Given the description of an element on the screen output the (x, y) to click on. 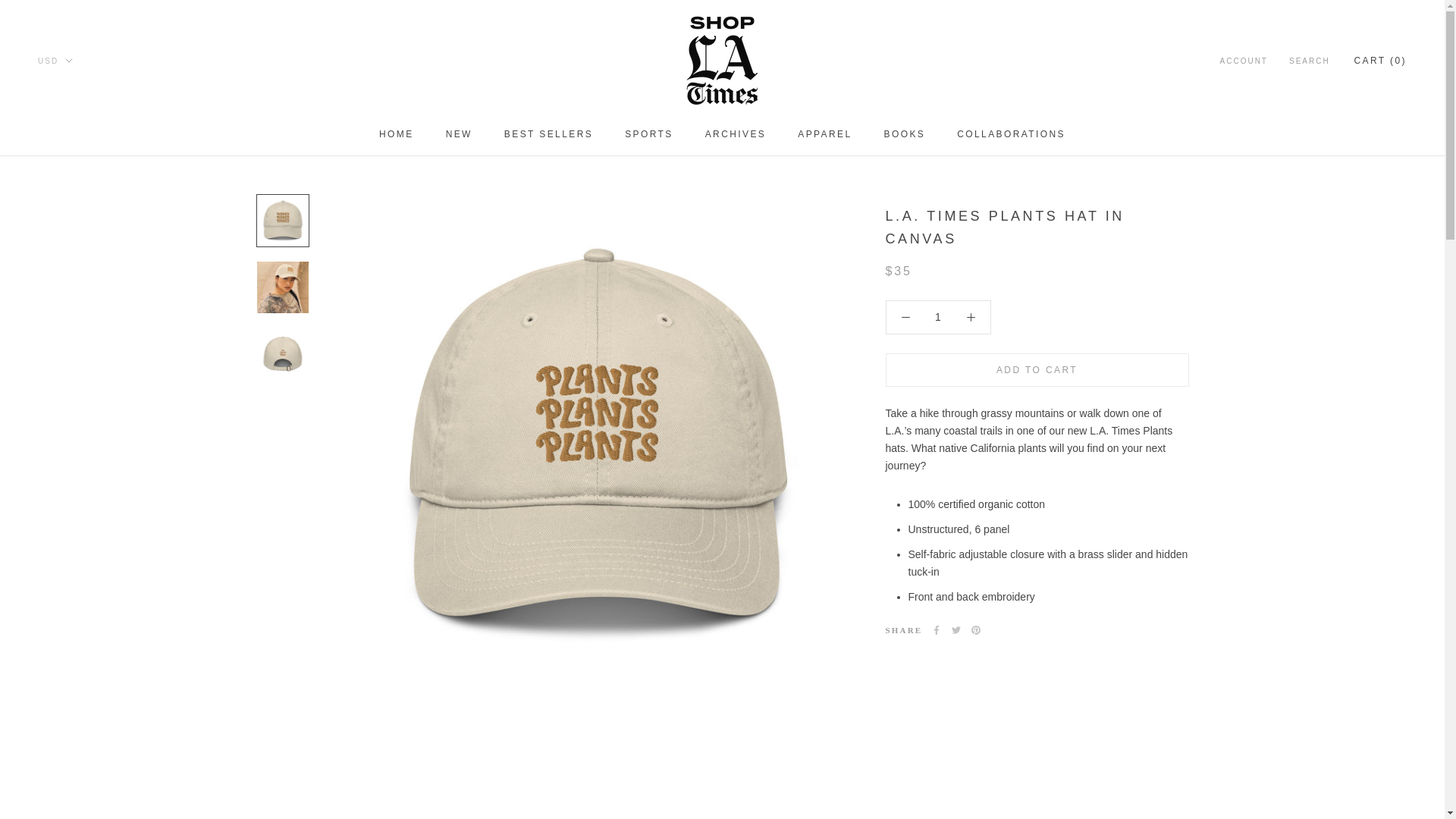
Currency selector (54, 60)
1 (938, 316)
